Given the description of an element on the screen output the (x, y) to click on. 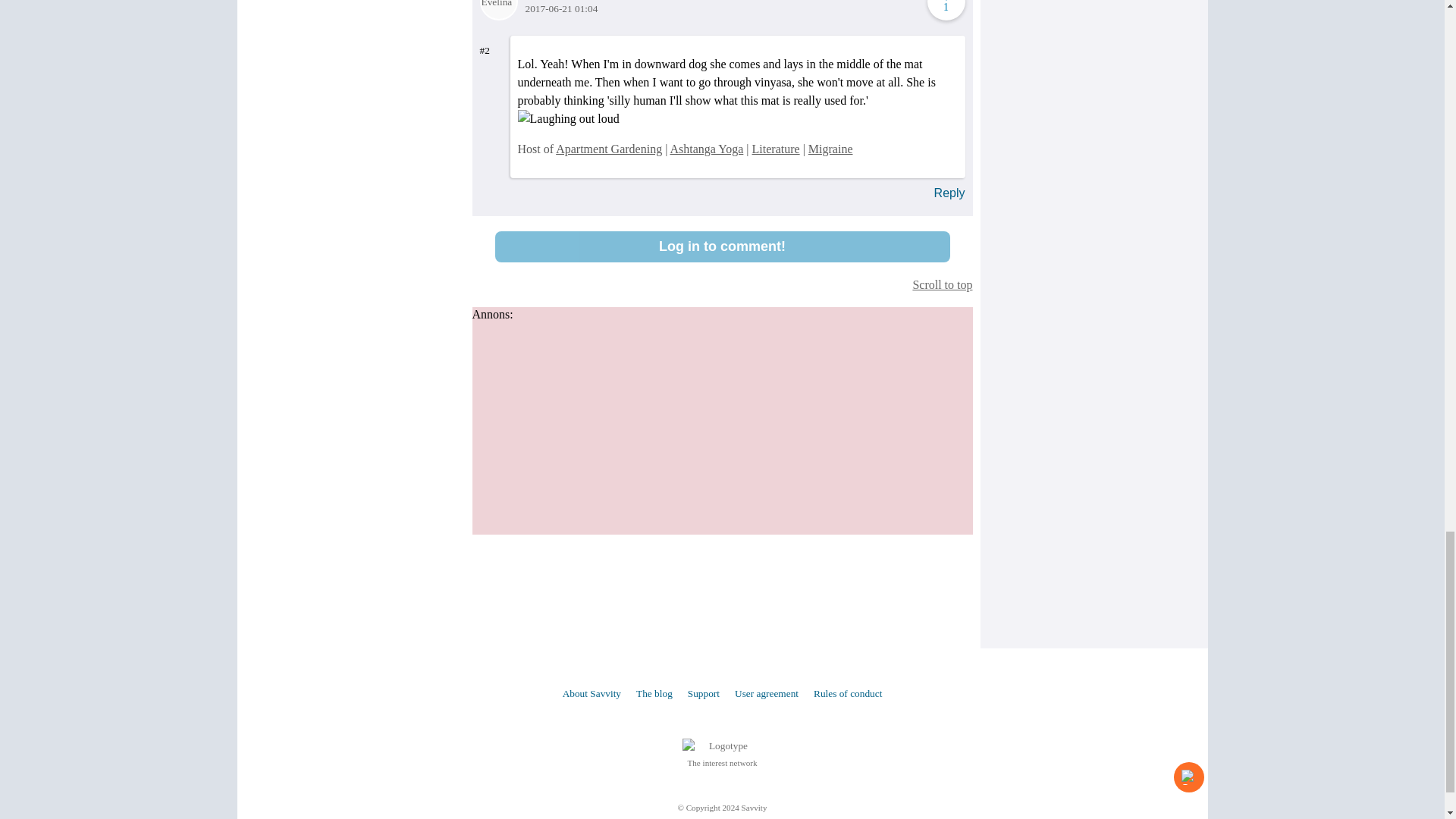
Log in to comment! (722, 246)
About Savvity (591, 692)
Scroll to top (721, 284)
Reply (949, 192)
Migraine (830, 148)
Support (702, 692)
Scroll to top (721, 284)
Apartment Gardening (609, 148)
Literature (775, 148)
Rules of conduct (847, 692)
Ashtanga Yoga (705, 148)
User agreement (766, 692)
The blog (653, 692)
Laughing out loud (567, 118)
